Given the description of an element on the screen output the (x, y) to click on. 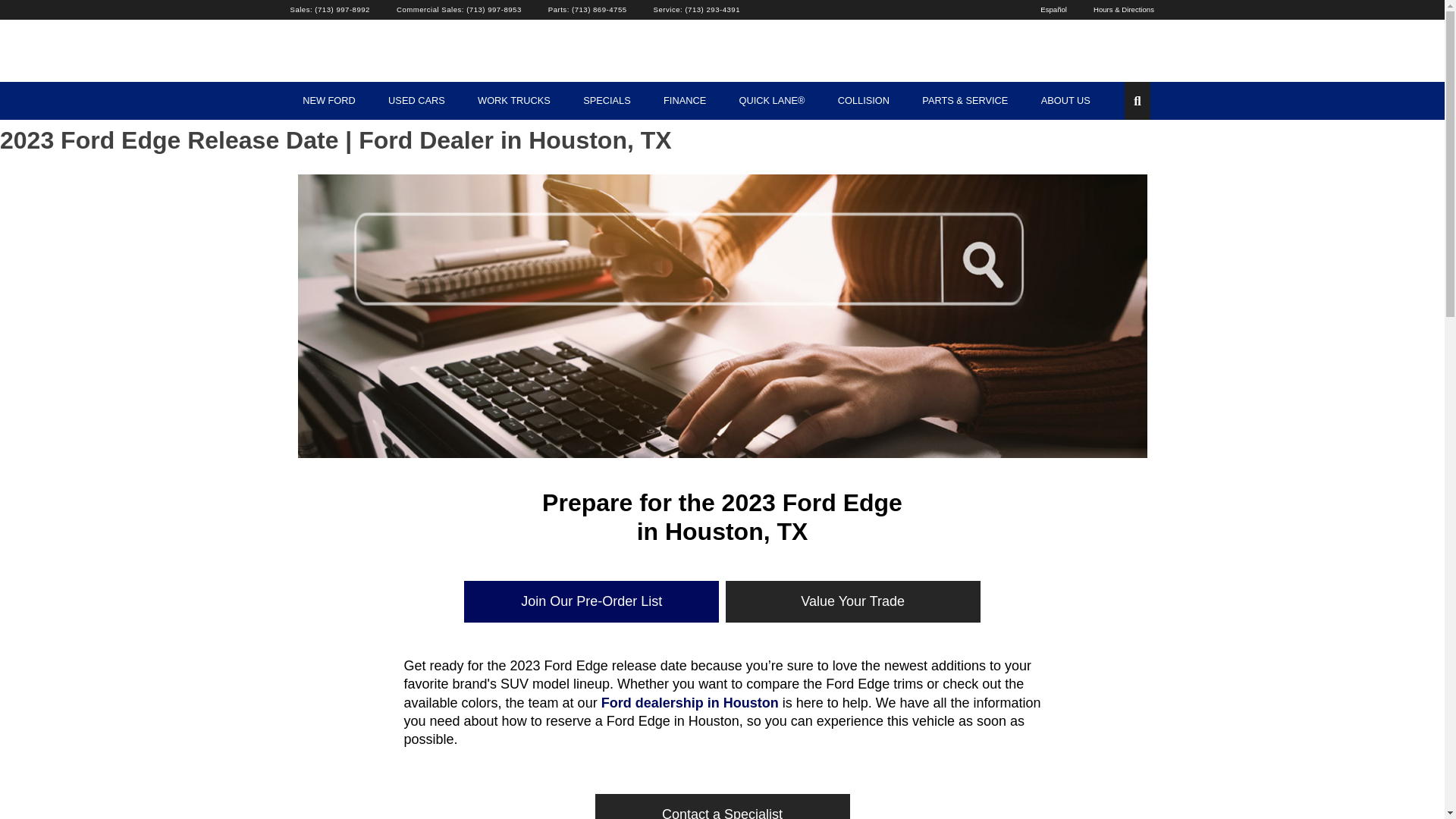
NEW FORD (329, 100)
